Given the description of an element on the screen output the (x, y) to click on. 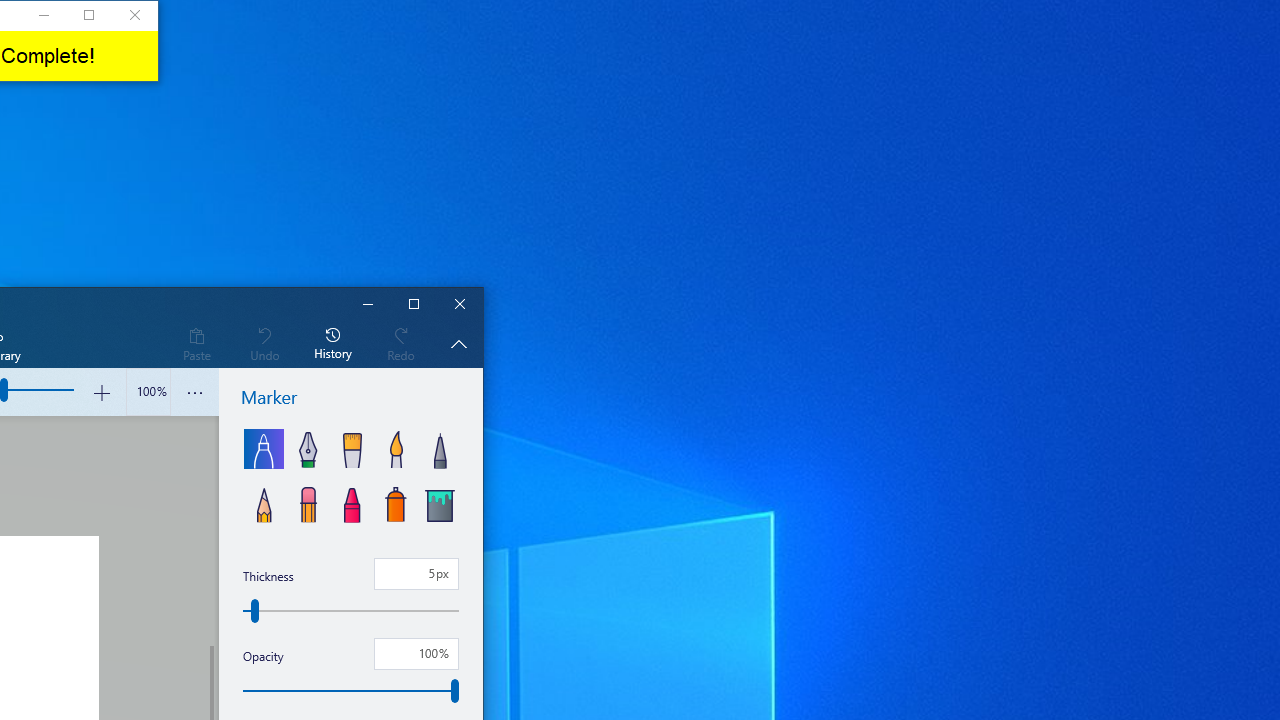
View more options (194, 391)
Zoom slider (148, 391)
Opacity, percent (416, 653)
Hide description (458, 343)
Eraser (307, 502)
Watercolor (396, 448)
Pixel pen (439, 448)
Oil brush (351, 448)
Pencil (264, 502)
